Given the description of an element on the screen output the (x, y) to click on. 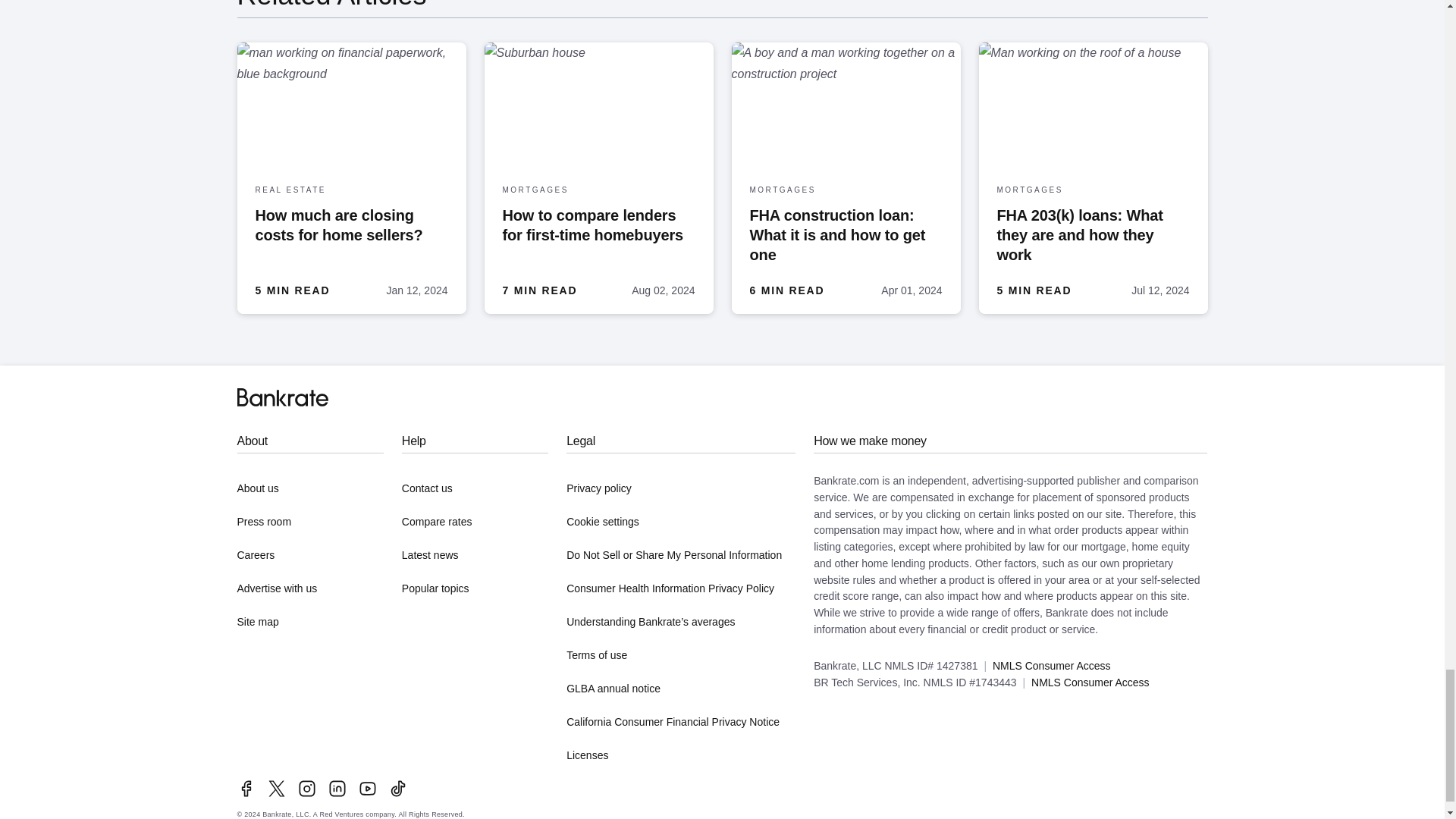
LinkedIn logo (336, 788)
YouTube logo (366, 788)
Bankrate (281, 397)
Twitter logo (275, 788)
TikTok logo (397, 788)
Facebook logo (244, 788)
Instagram logo (306, 788)
